Given the description of an element on the screen output the (x, y) to click on. 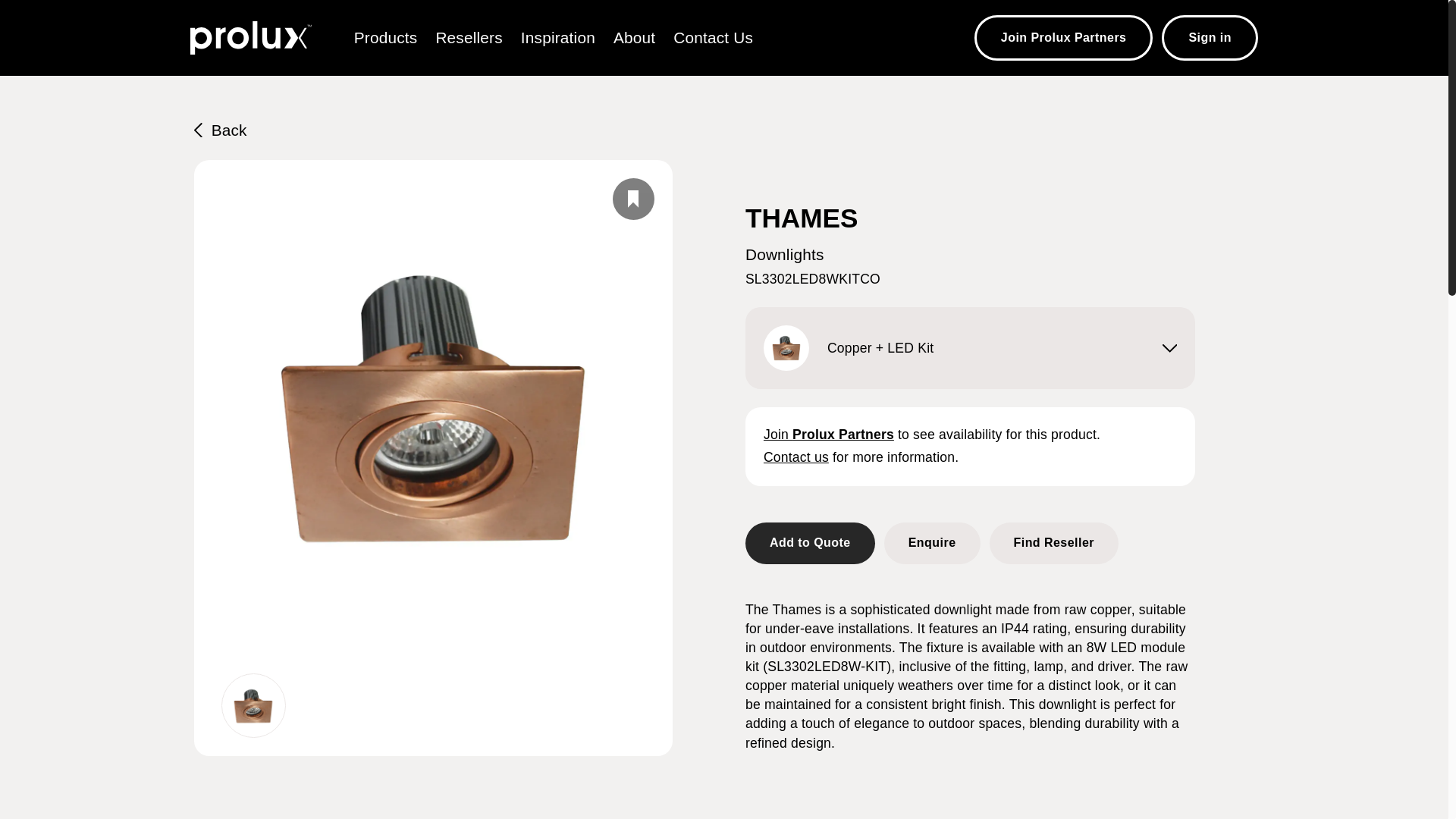
Find Reseller (1053, 540)
Inspiration (558, 37)
Products (385, 37)
Find Reseller (1053, 543)
Enquire (931, 543)
About (633, 37)
Contact Us (712, 37)
Sign in (1209, 37)
Join Prolux Partners (1063, 37)
Join Prolux Partners (827, 434)
